Given the description of an element on the screen output the (x, y) to click on. 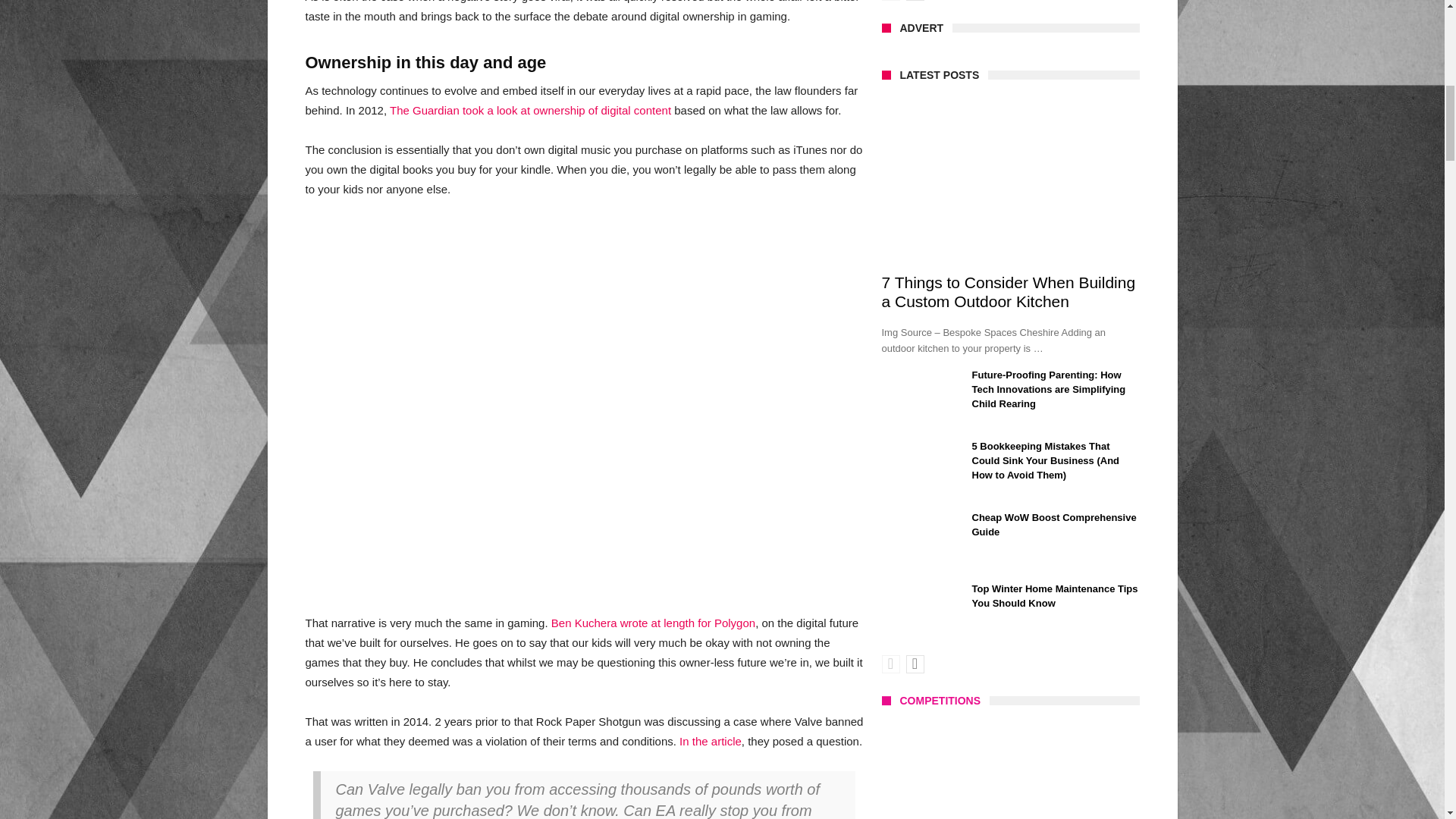
Ben Kuchera wrote at length for Polygon (653, 622)
In the article (710, 740)
The Guardian took a look at ownership of digital content (530, 110)
